Given the description of an element on the screen output the (x, y) to click on. 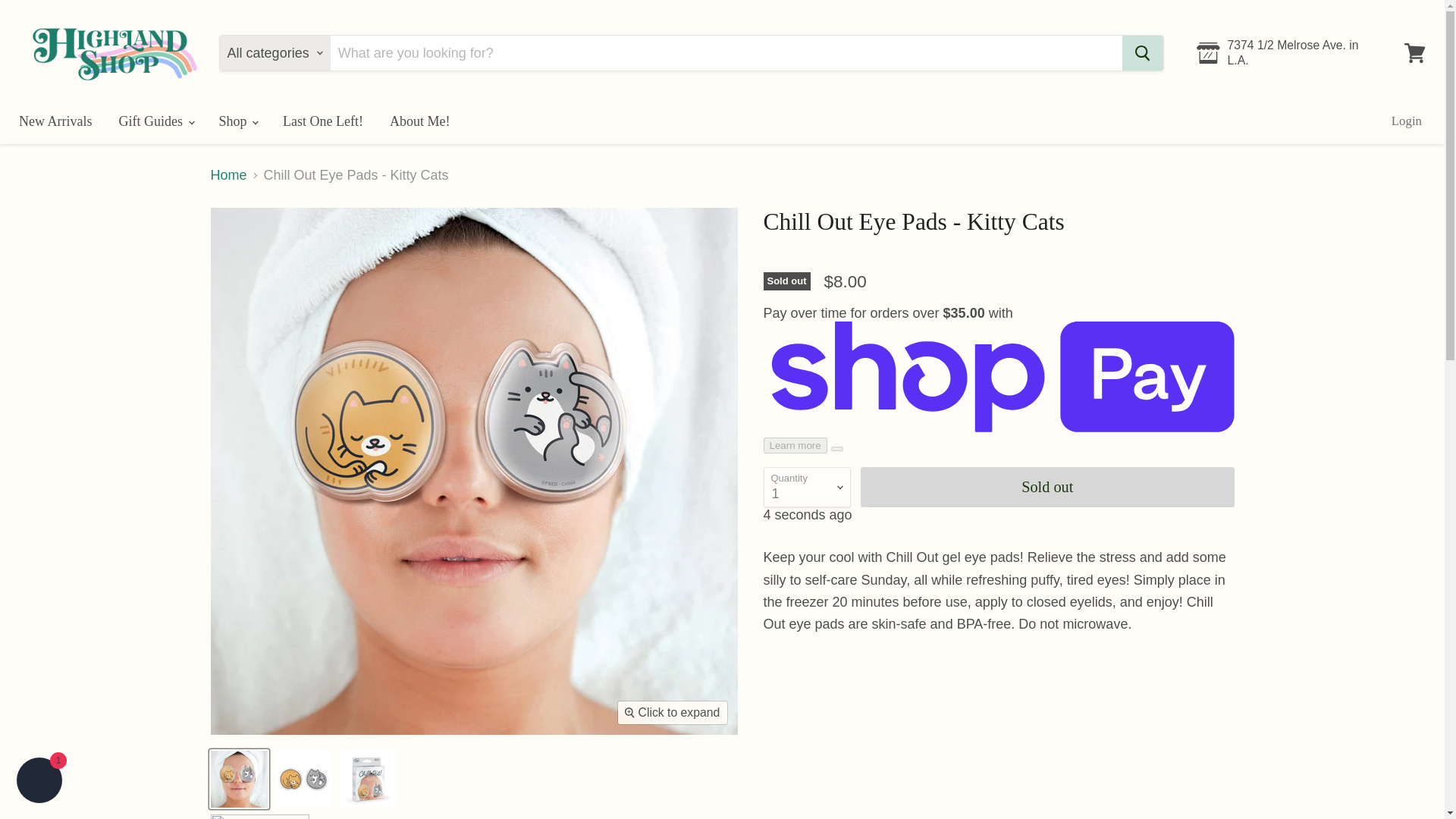
New Arrivals (55, 121)
Shopify online store chat (38, 781)
Gift Guides (155, 121)
Shop (237, 121)
View cart (1414, 53)
